Given the description of an element on the screen output the (x, y) to click on. 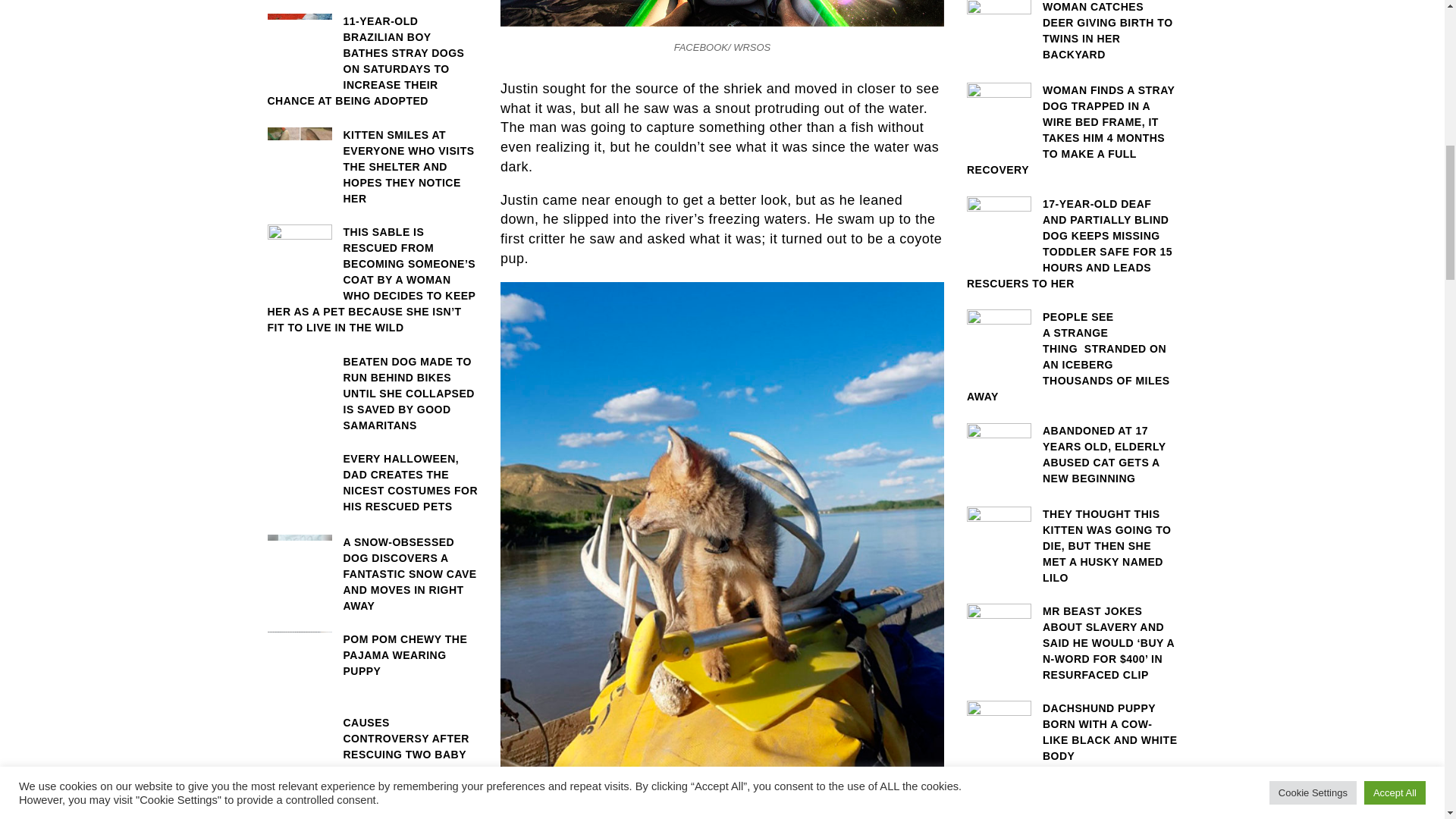
WOMAN CATCHES DEER GIVING BIRTH TO TWINS IN HER BACKYARD (1071, 31)
